Given the description of an element on the screen output the (x, y) to click on. 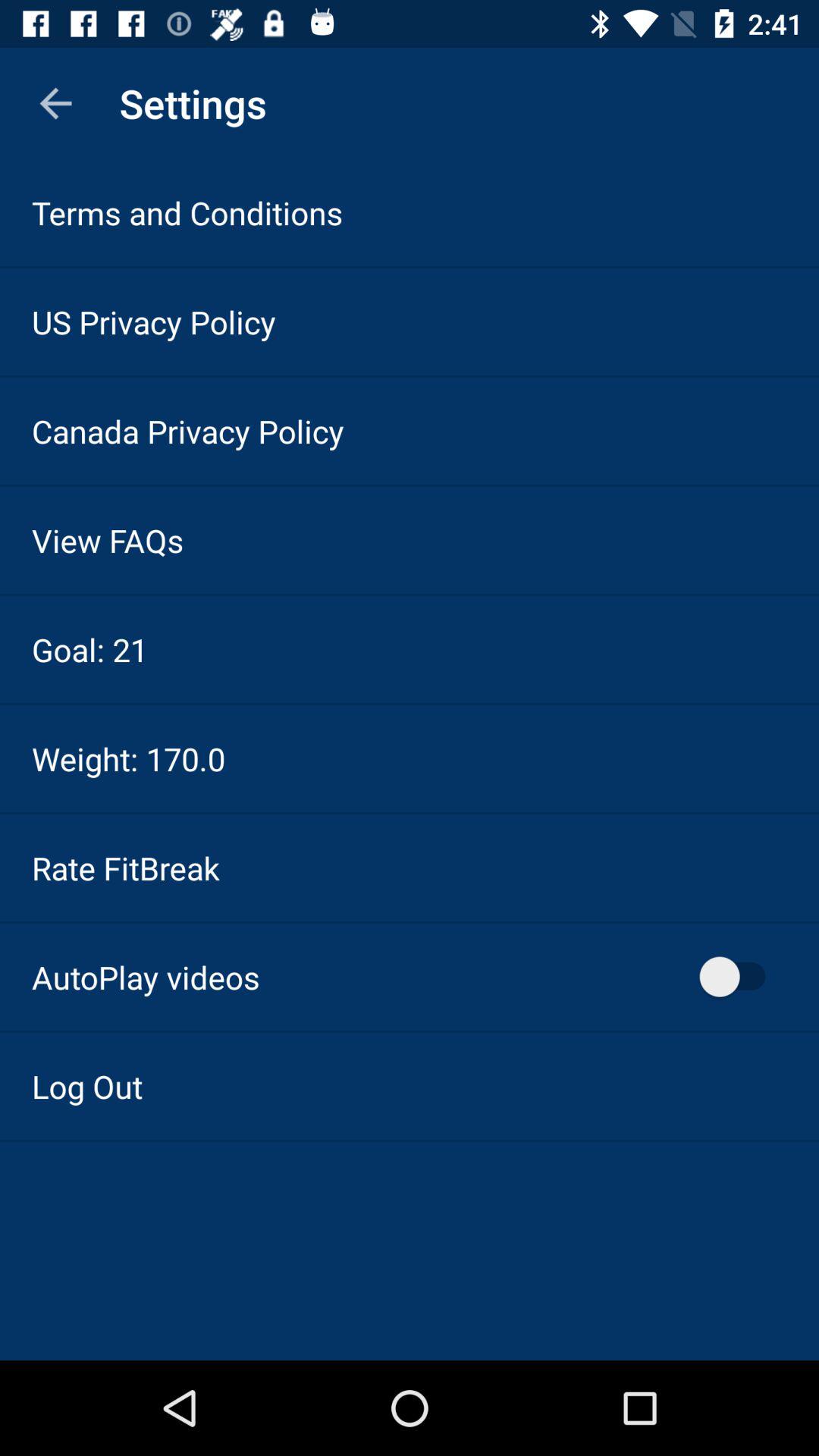
open goal: 21 (89, 649)
